Given the description of an element on the screen output the (x, y) to click on. 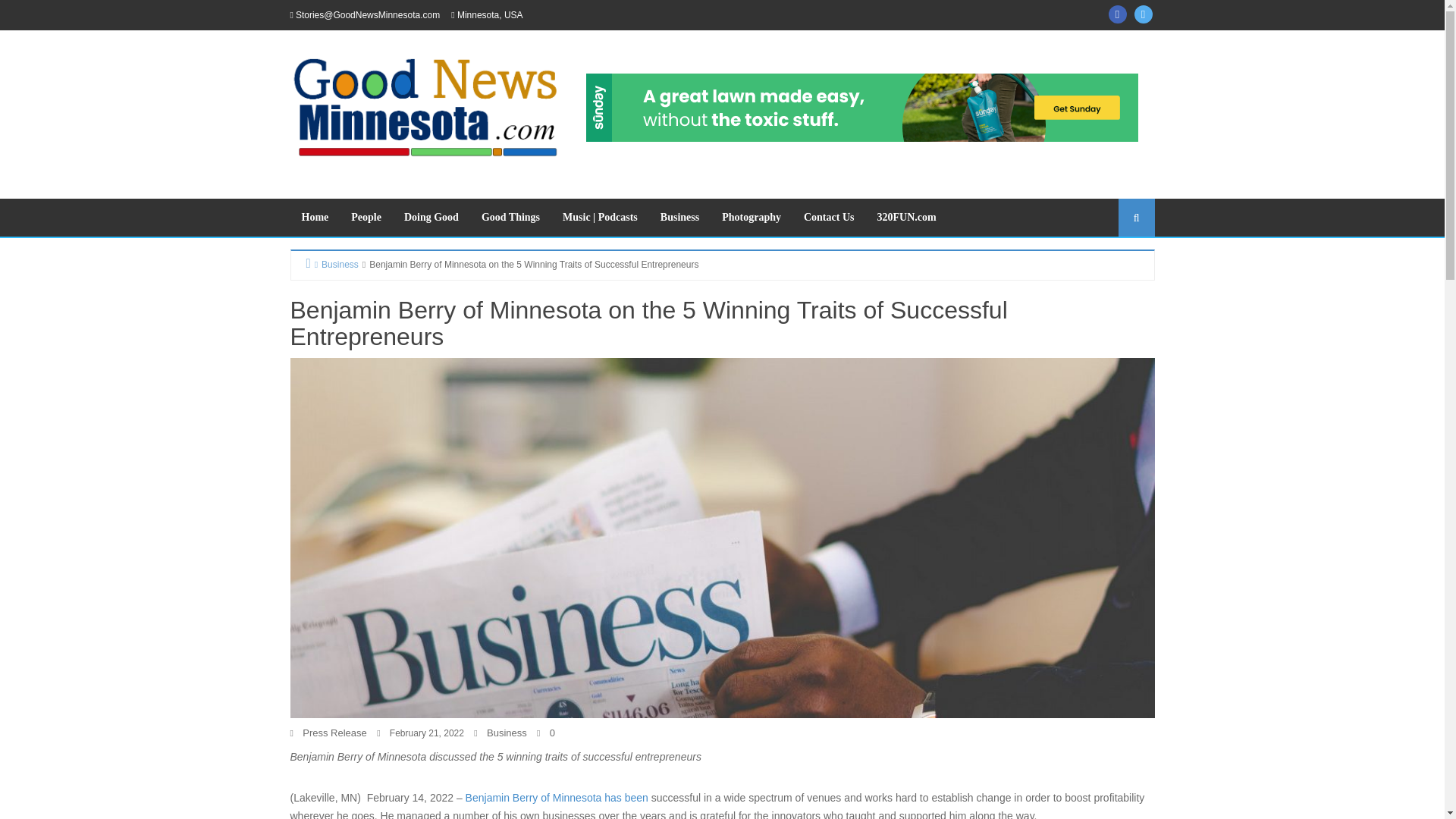
Business (679, 217)
Business (334, 264)
Benjamin Berry of Minnesota has been (556, 797)
People (366, 217)
Contact Us (829, 217)
Photography (751, 217)
People (366, 217)
Photography (751, 217)
Monday, February 21, 2022, 10:26 pm (427, 733)
Home (314, 217)
